Given the description of an element on the screen output the (x, y) to click on. 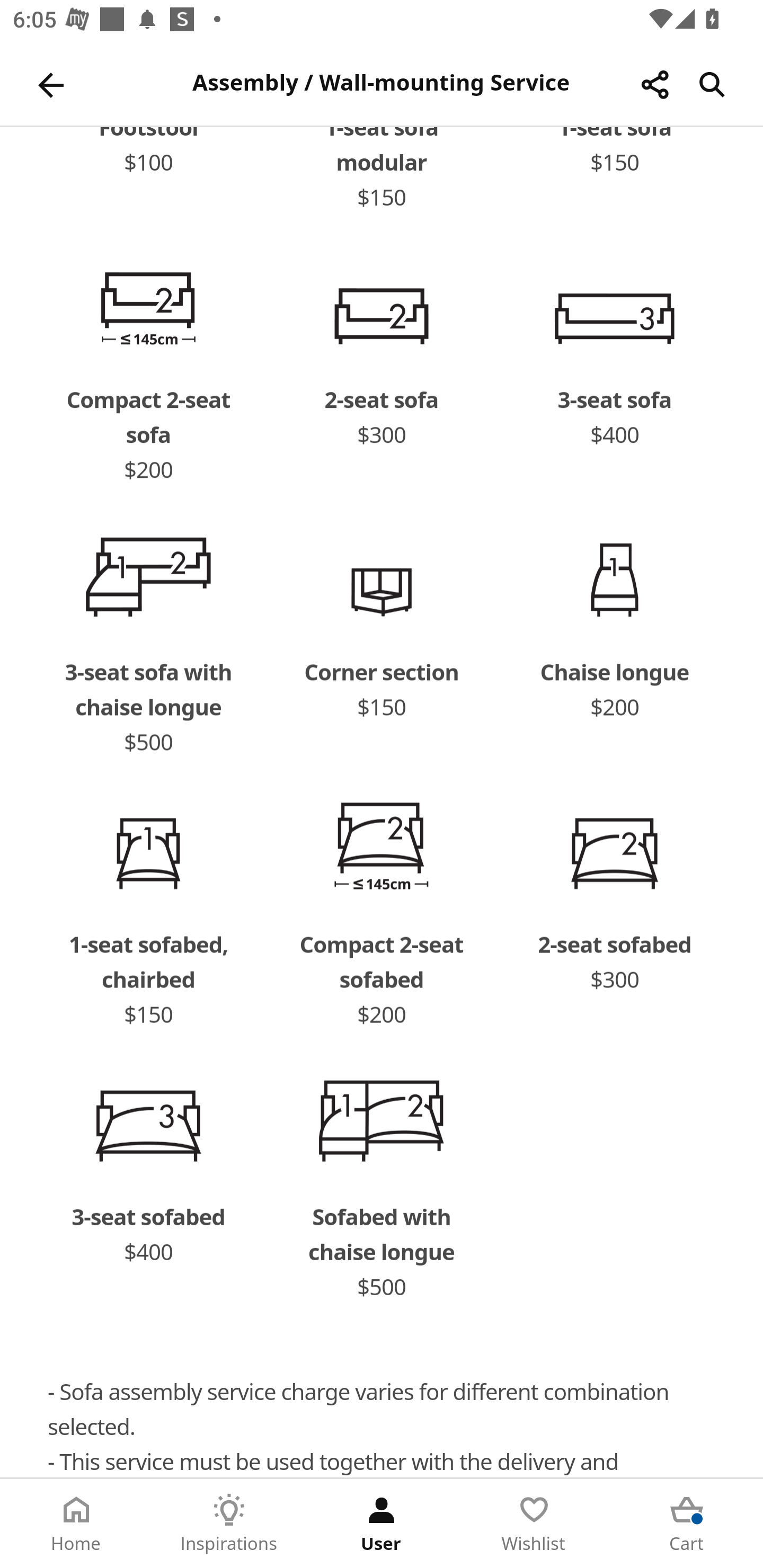
Home
Tab 1 of 5 (76, 1522)
Inspirations
Tab 2 of 5 (228, 1522)
User
Tab 3 of 5 (381, 1522)
Wishlist
Tab 4 of 5 (533, 1522)
Cart
Tab 5 of 5 (686, 1522)
